Given the description of an element on the screen output the (x, y) to click on. 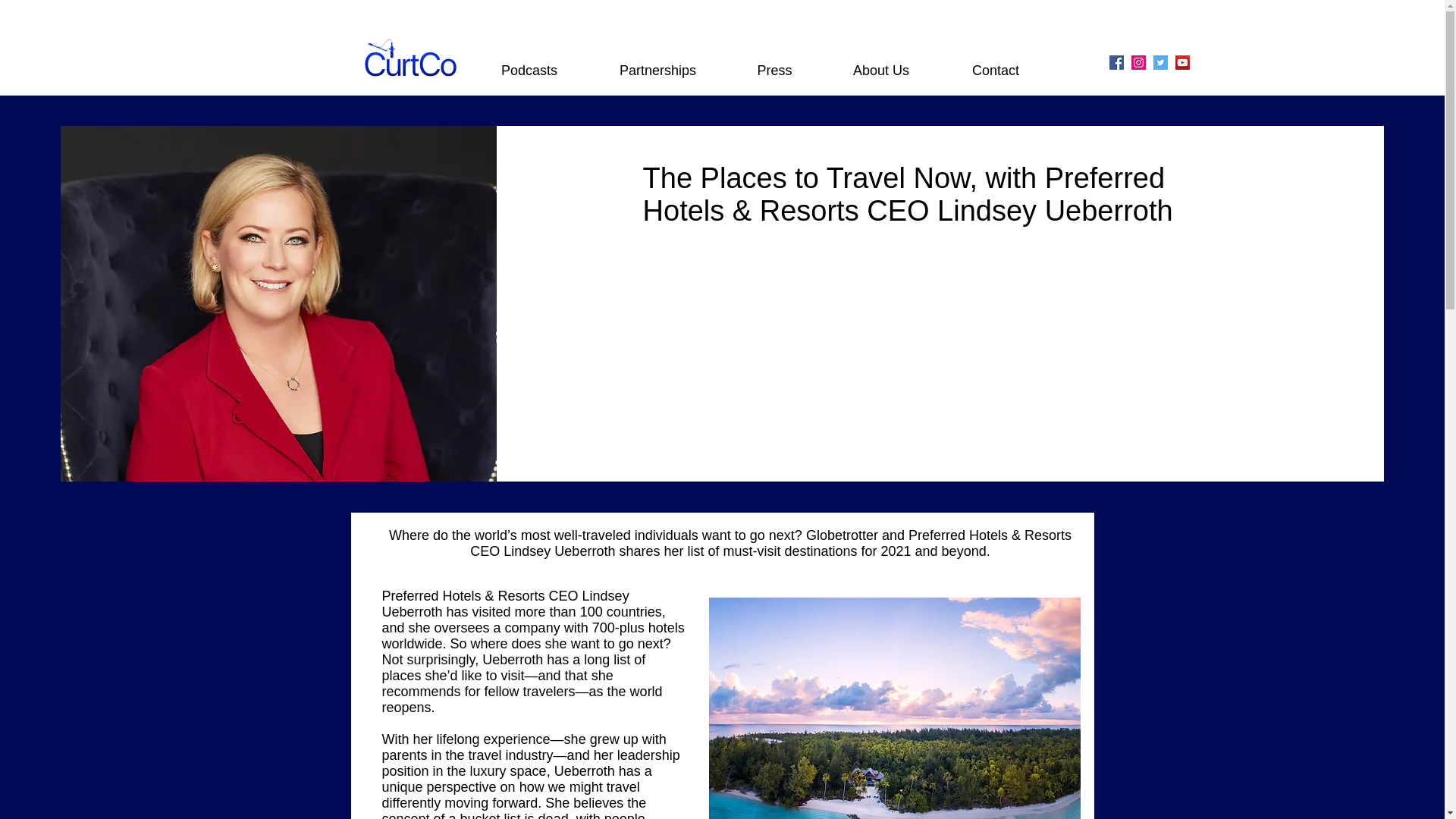
About Us (881, 70)
Press (775, 70)
Podcasts (529, 70)
Partnerships (658, 70)
Contact (994, 70)
